Given the description of an element on the screen output the (x, y) to click on. 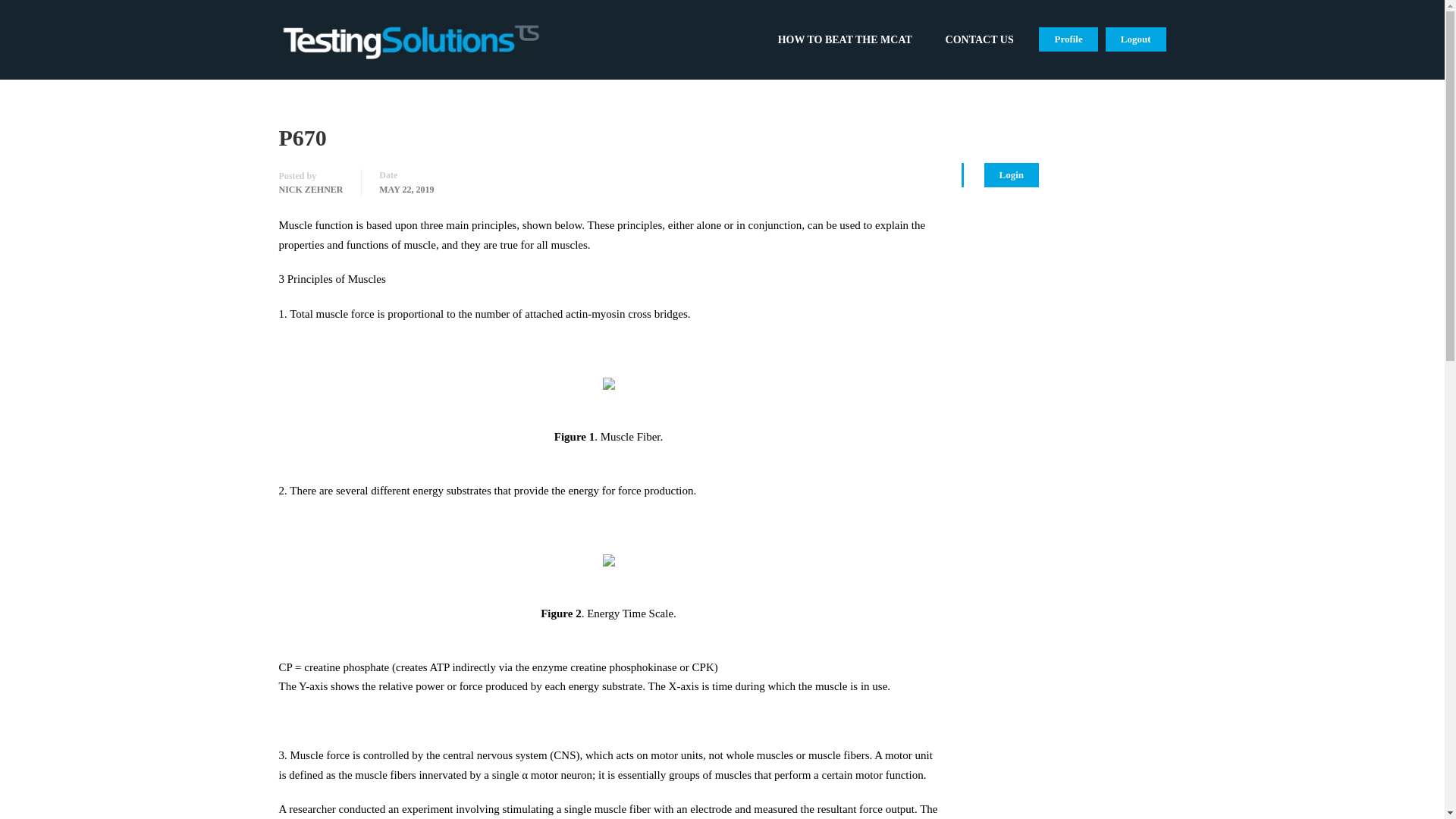
Profile (1068, 39)
Logout (1135, 39)
Login (1011, 174)
HOW TO BEAT THE MCAT (844, 46)
NICK ZEHNER (311, 189)
CONTACT US (979, 46)
